Given the description of an element on the screen output the (x, y) to click on. 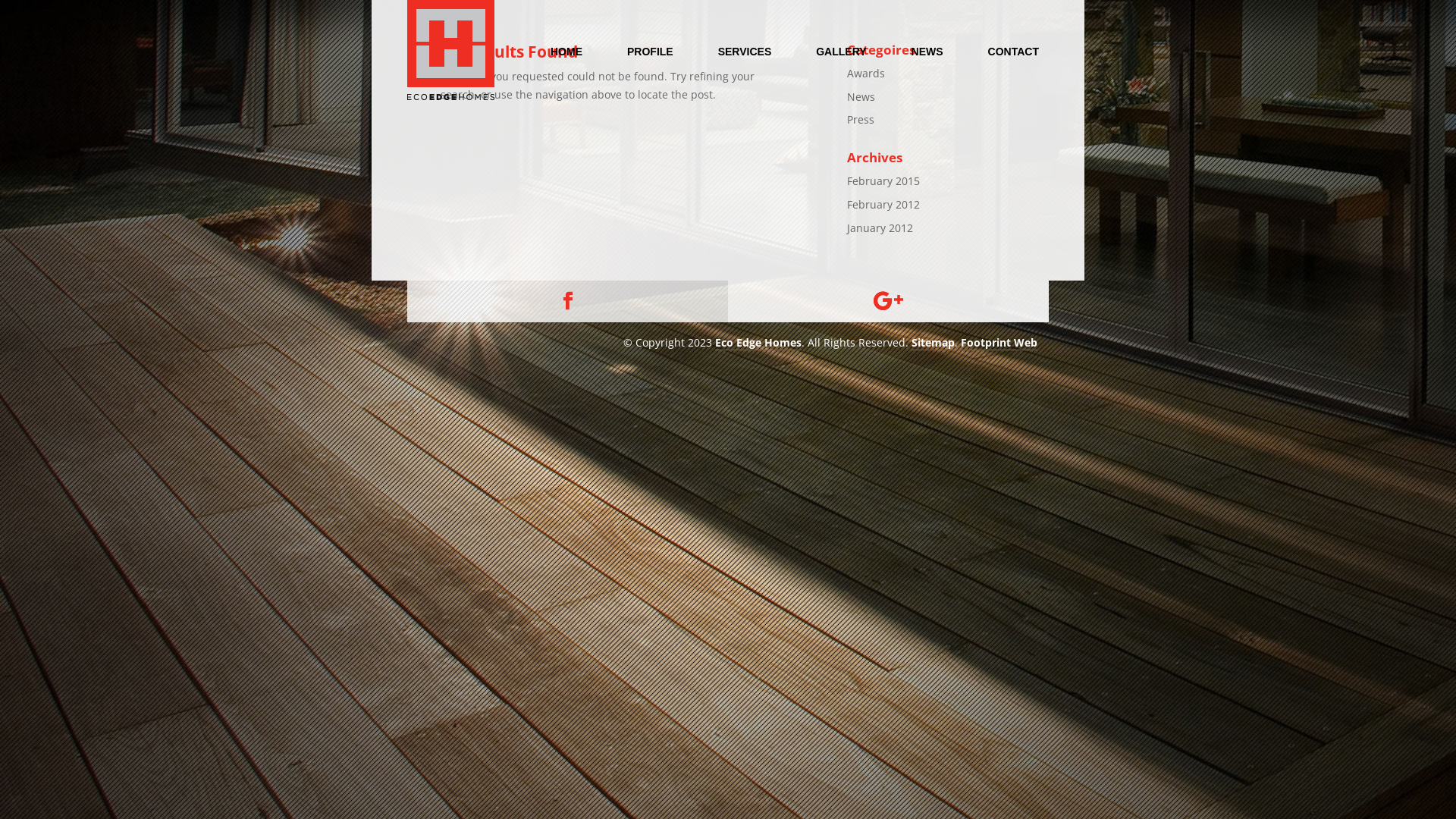
HOME Element type: text (566, 50)
NEWS Element type: text (927, 50)
CONTACT Element type: text (1013, 50)
Footprint Web Element type: text (998, 342)
News Element type: text (861, 96)
Sitemap Element type: text (932, 342)
GALLERY Element type: text (840, 50)
January 2012 Element type: text (880, 227)
PROFILE Element type: text (650, 50)
Eco Edge Homes Element type: text (758, 342)
Press Element type: text (860, 119)
February 2012 Element type: text (883, 204)
Awards Element type: text (865, 72)
February 2015 Element type: text (883, 180)
SERVICES Element type: text (744, 50)
